Given the description of an element on the screen output the (x, y) to click on. 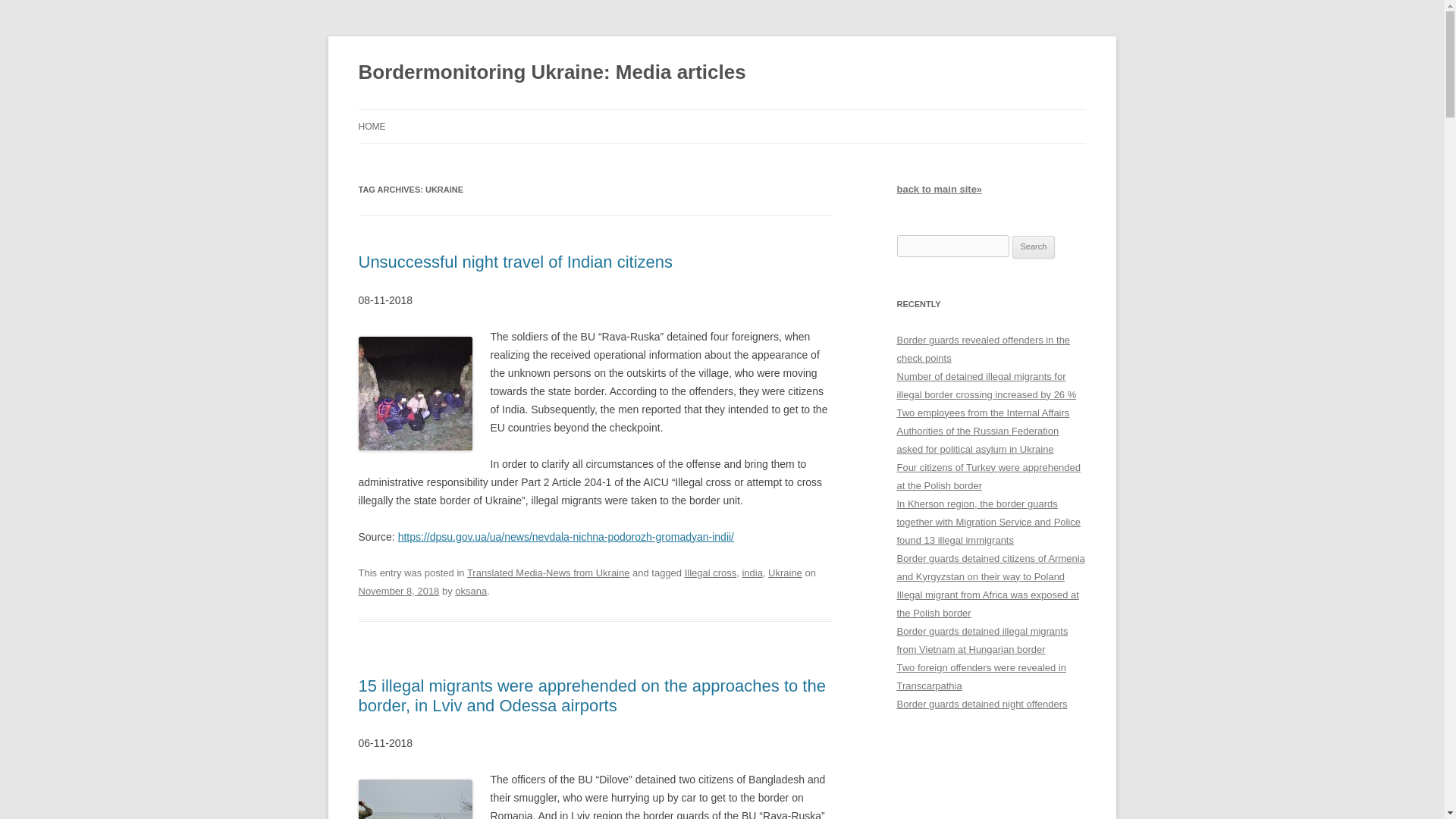
15:05 (398, 591)
Translated Media-News from Ukraine (548, 572)
Bordermonitoring Ukraine: Media articles (551, 72)
oksana (470, 591)
November 8, 2018 (398, 591)
Illegal cross (710, 572)
india (751, 572)
View all posts by oksana (470, 591)
Search (1033, 246)
